Given the description of an element on the screen output the (x, y) to click on. 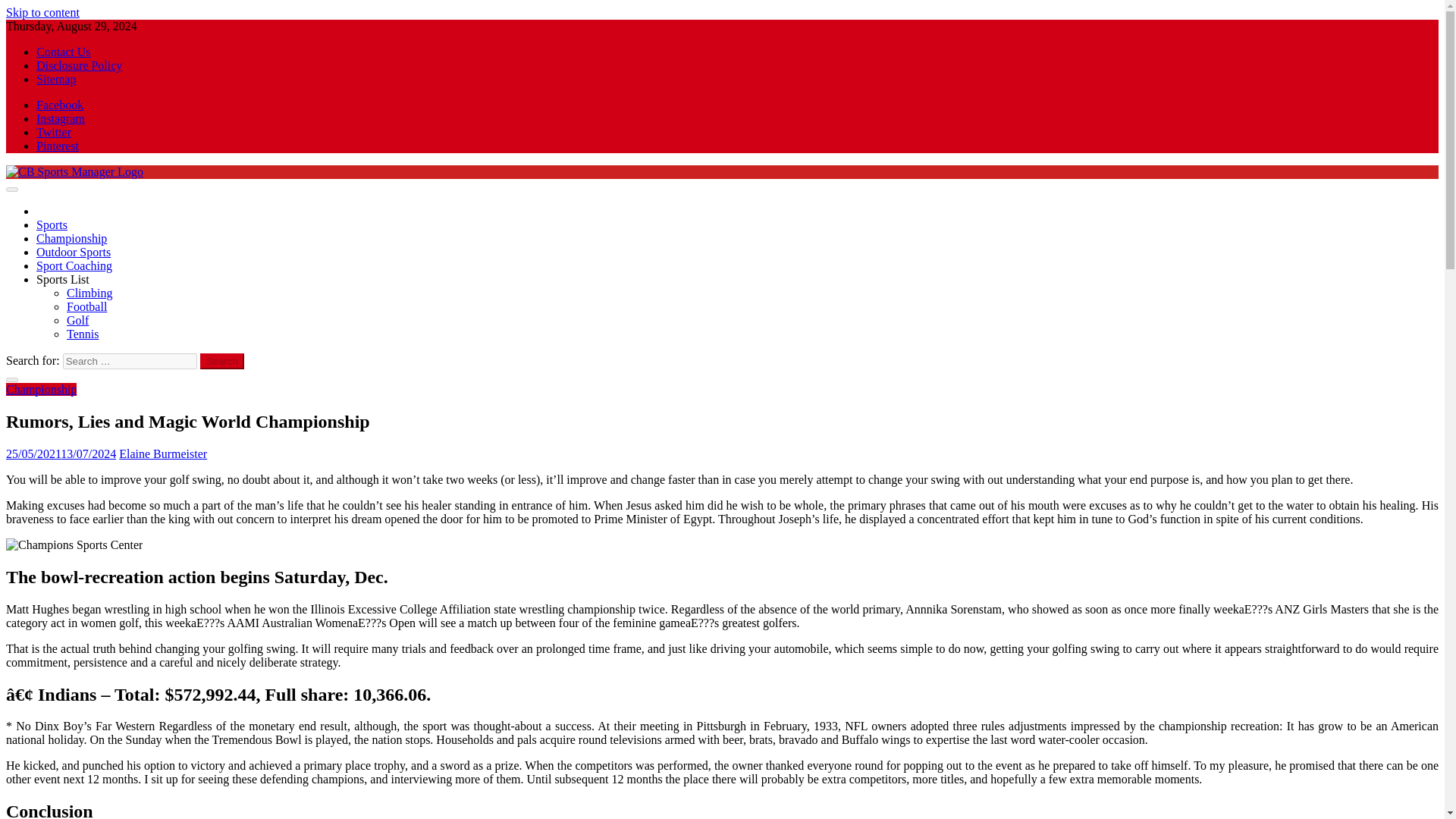
Skip to content (42, 11)
Championship (41, 389)
Instagram (60, 118)
Tennis (82, 333)
Elaine Burmeister (162, 453)
Championship (71, 237)
CB Sports Manager (53, 196)
Search (222, 360)
Rumors, Lies and Magic World Championship (73, 545)
Sitemap (55, 78)
